Given the description of an element on the screen output the (x, y) to click on. 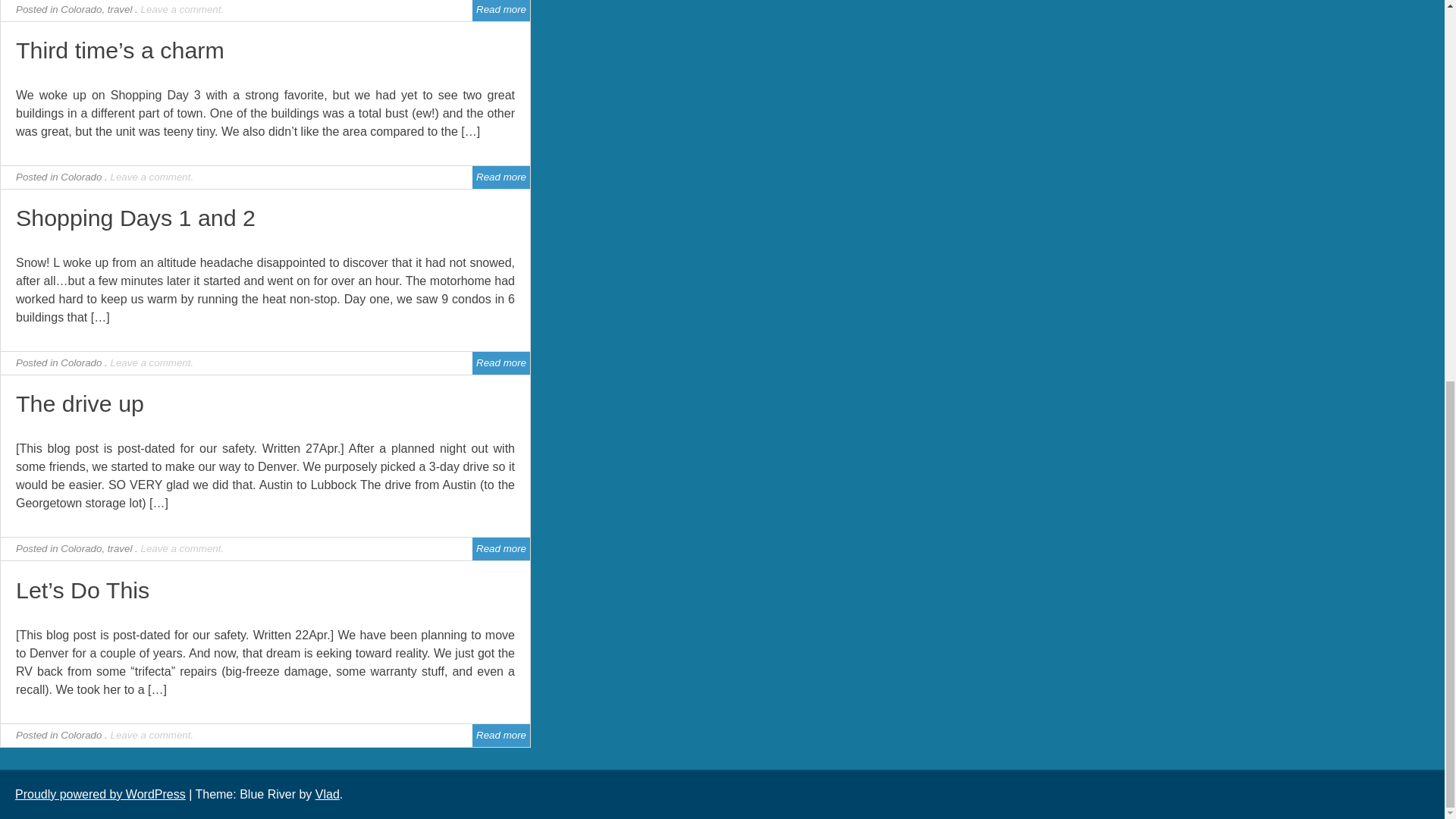
Read more (500, 176)
Read more (500, 9)
travel (119, 548)
travel (119, 9)
Leave a comment (180, 548)
Colorado (81, 548)
Read more (500, 362)
Read more (500, 548)
Colorado (81, 362)
Leave a comment (150, 362)
